Given the description of an element on the screen output the (x, y) to click on. 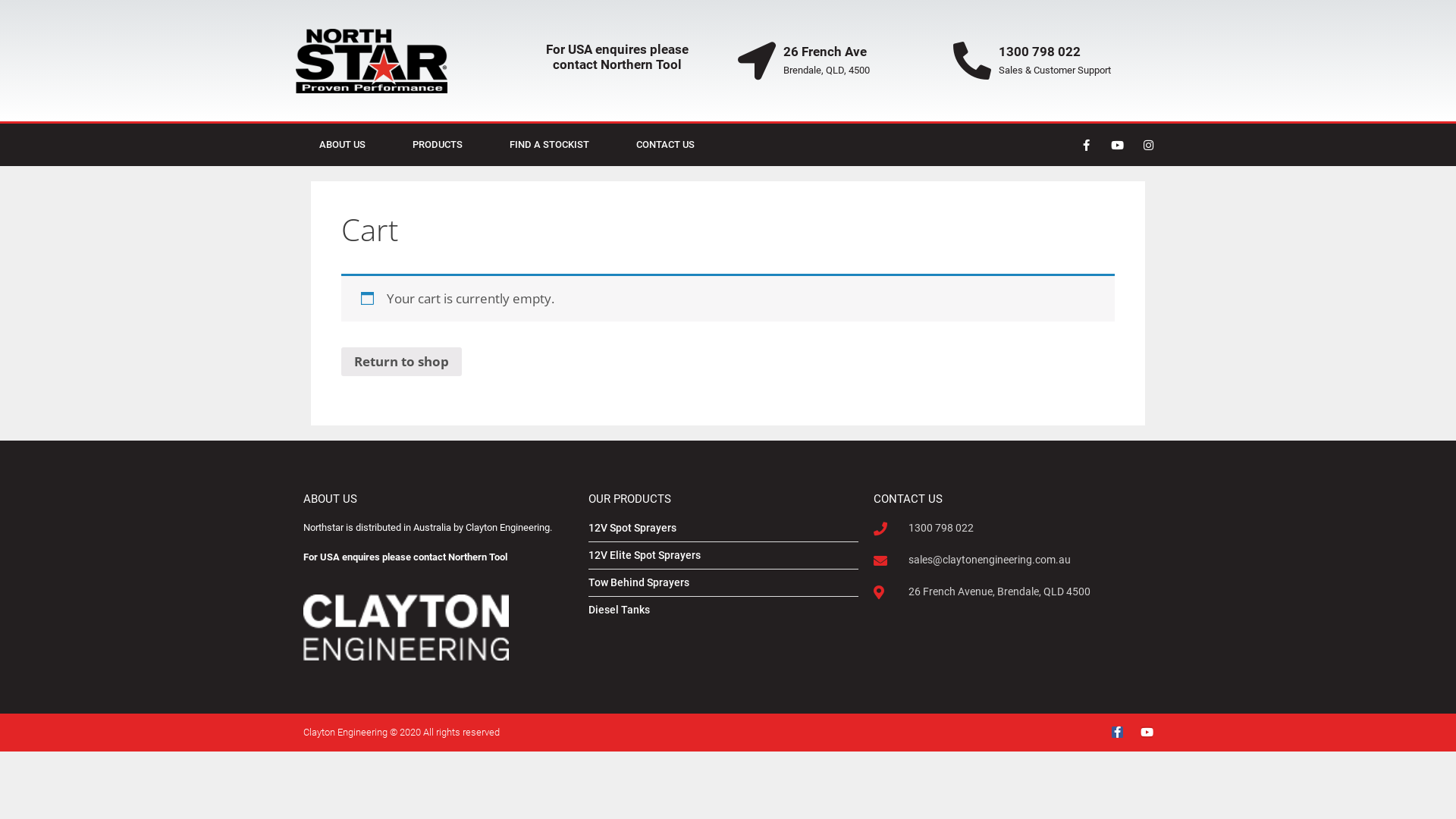
Return to shop Element type: text (401, 361)
ABOUT US Element type: text (342, 144)
FIND A STOCKIST Element type: text (549, 144)
PRODUCTS Element type: text (437, 144)
CONTACT US Element type: text (665, 144)
